Given the description of an element on the screen output the (x, y) to click on. 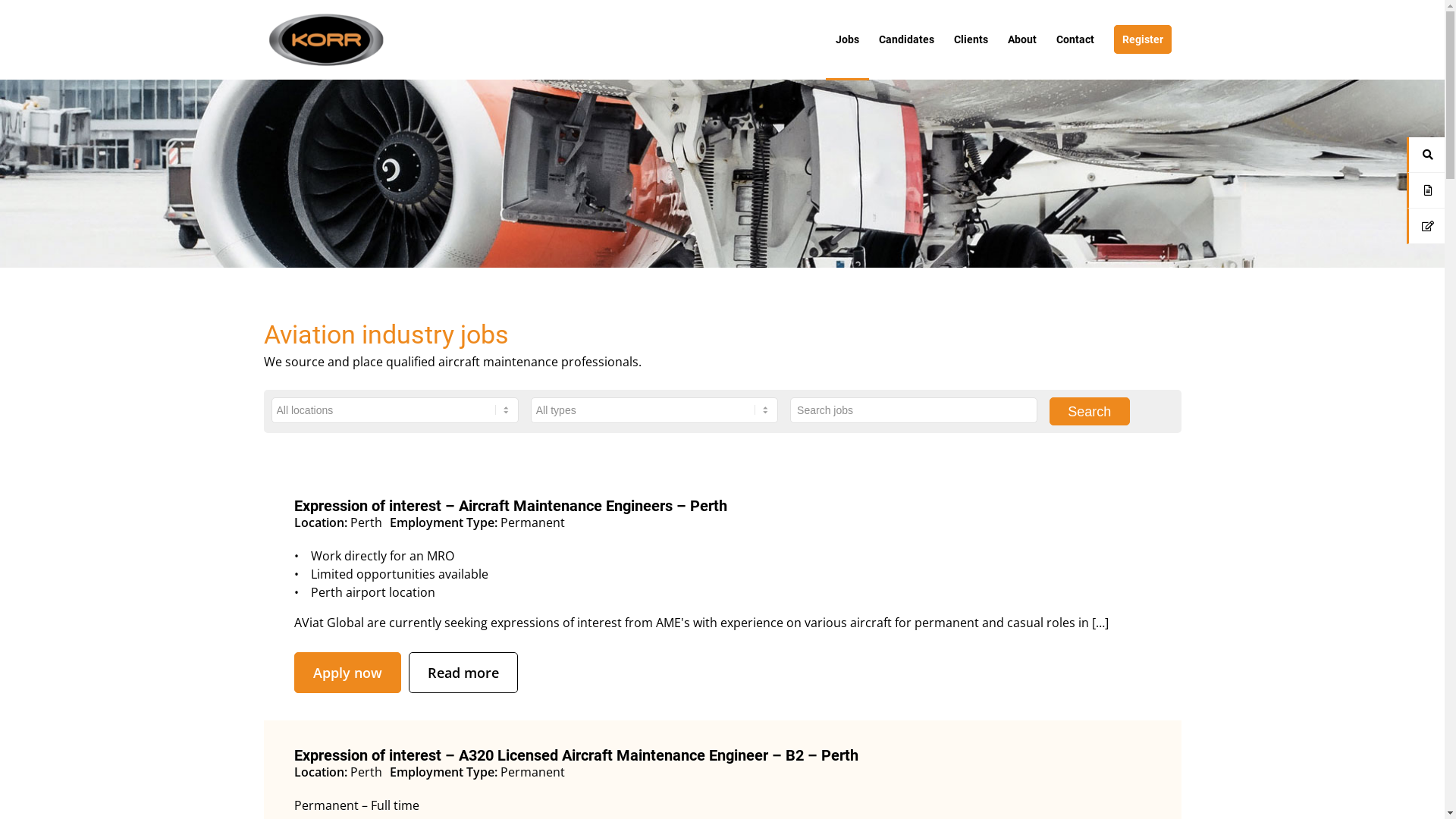
Register Element type: text (1142, 39)
Candidates Element type: text (906, 39)
Jobs Element type: text (846, 39)
About Element type: text (1021, 39)
Read more Element type: text (462, 672)
Search Element type: text (1089, 411)
Contact Element type: text (1075, 39)
Apply now Element type: text (347, 672)
Clients Element type: text (970, 39)
